Given the description of an element on the screen output the (x, y) to click on. 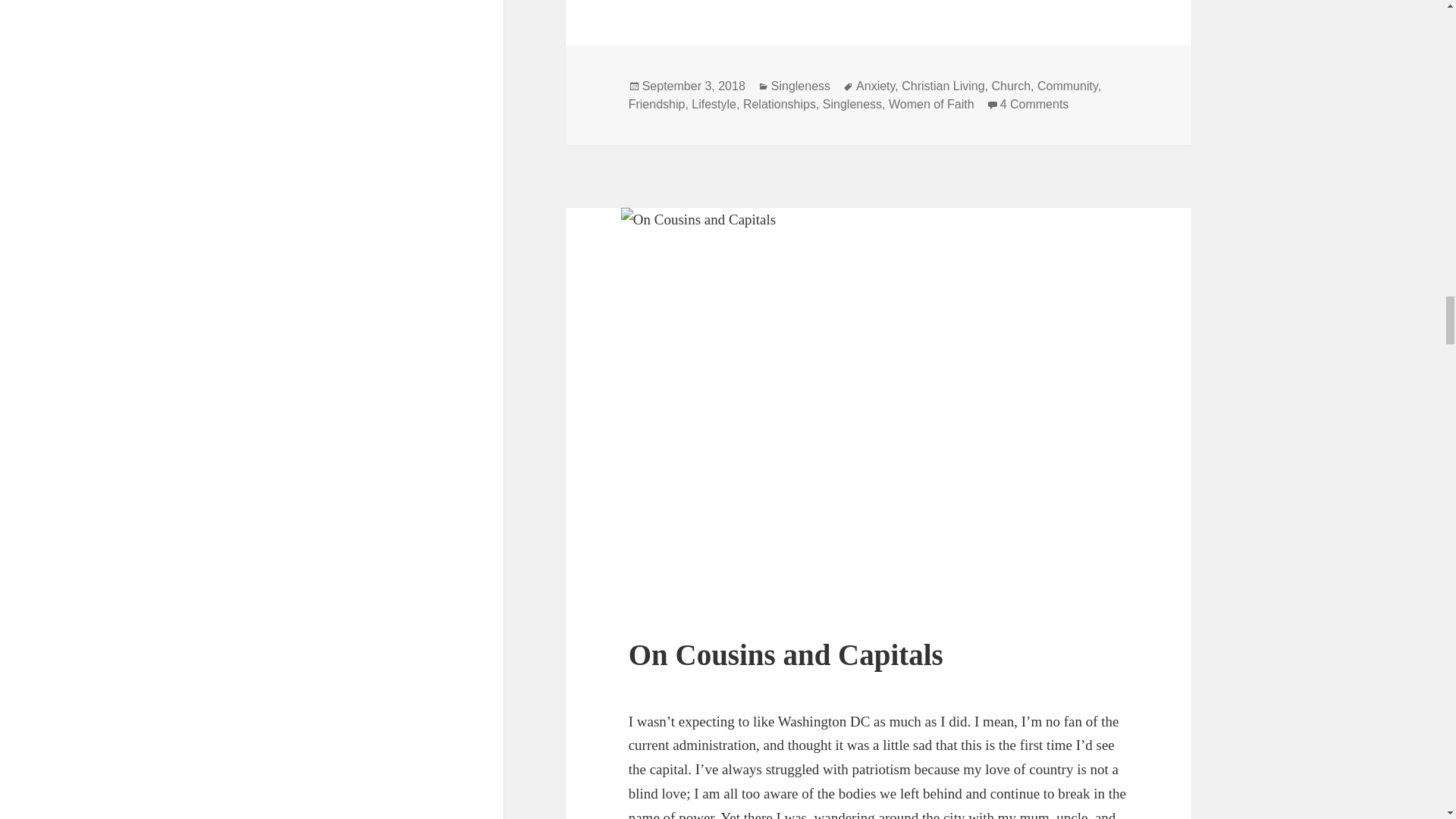
Lifestyle (713, 104)
Anxiety (875, 86)
September 3, 2018 (693, 86)
Singleness (800, 86)
Community (1066, 86)
Singleness (852, 104)
Christian Living (942, 86)
Friendship (656, 104)
Church (1010, 86)
Relationships (778, 104)
